Given the description of an element on the screen output the (x, y) to click on. 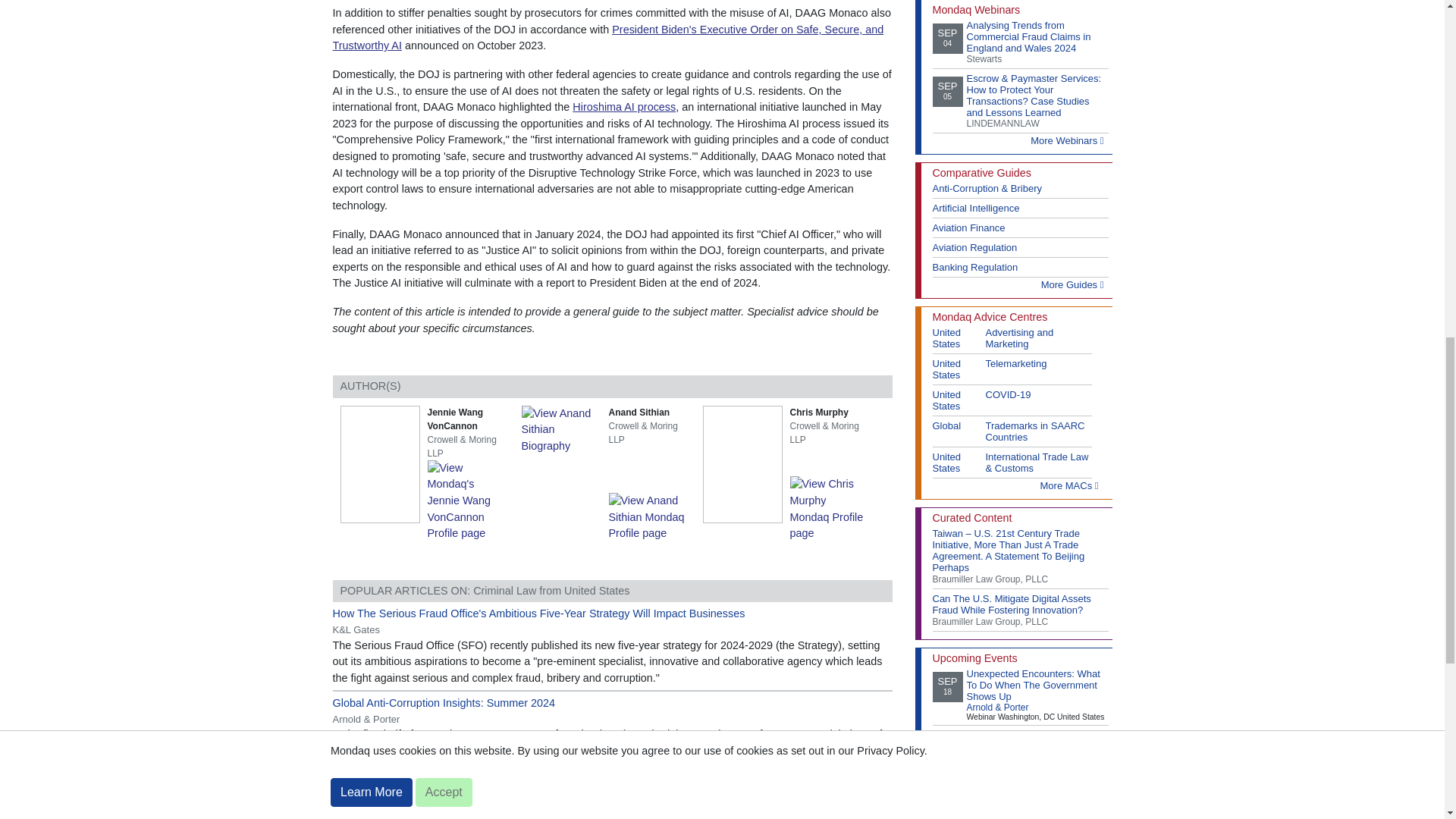
More from Jennie Wang  VonCannon (469, 500)
View this authors biography on their website (561, 428)
More from Anand  Sithian (649, 516)
Search Events (1071, 816)
